Given the description of an element on the screen output the (x, y) to click on. 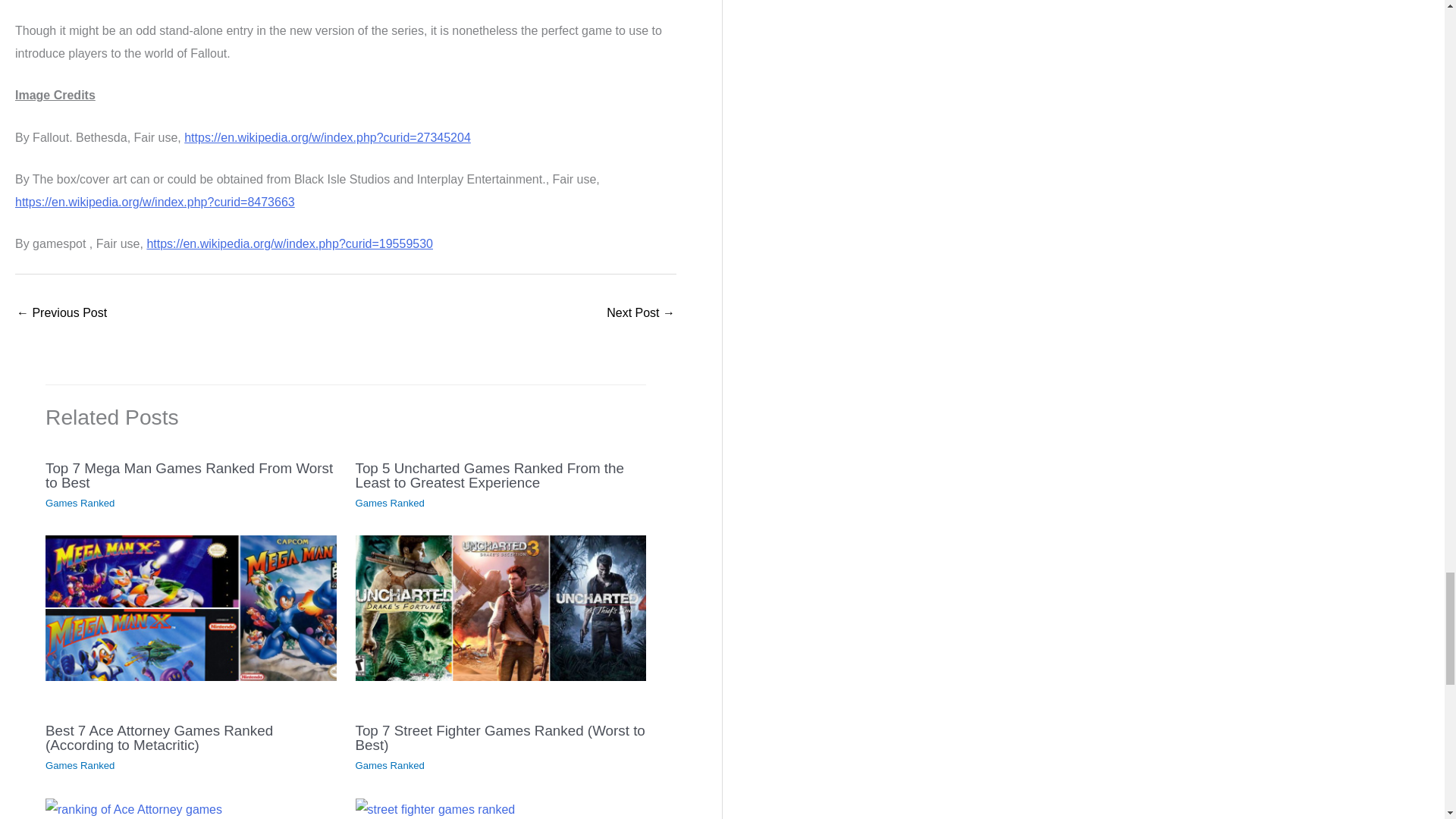
All Wolfenstein Games in Order of Chronological Release (641, 314)
